Given the description of an element on the screen output the (x, y) to click on. 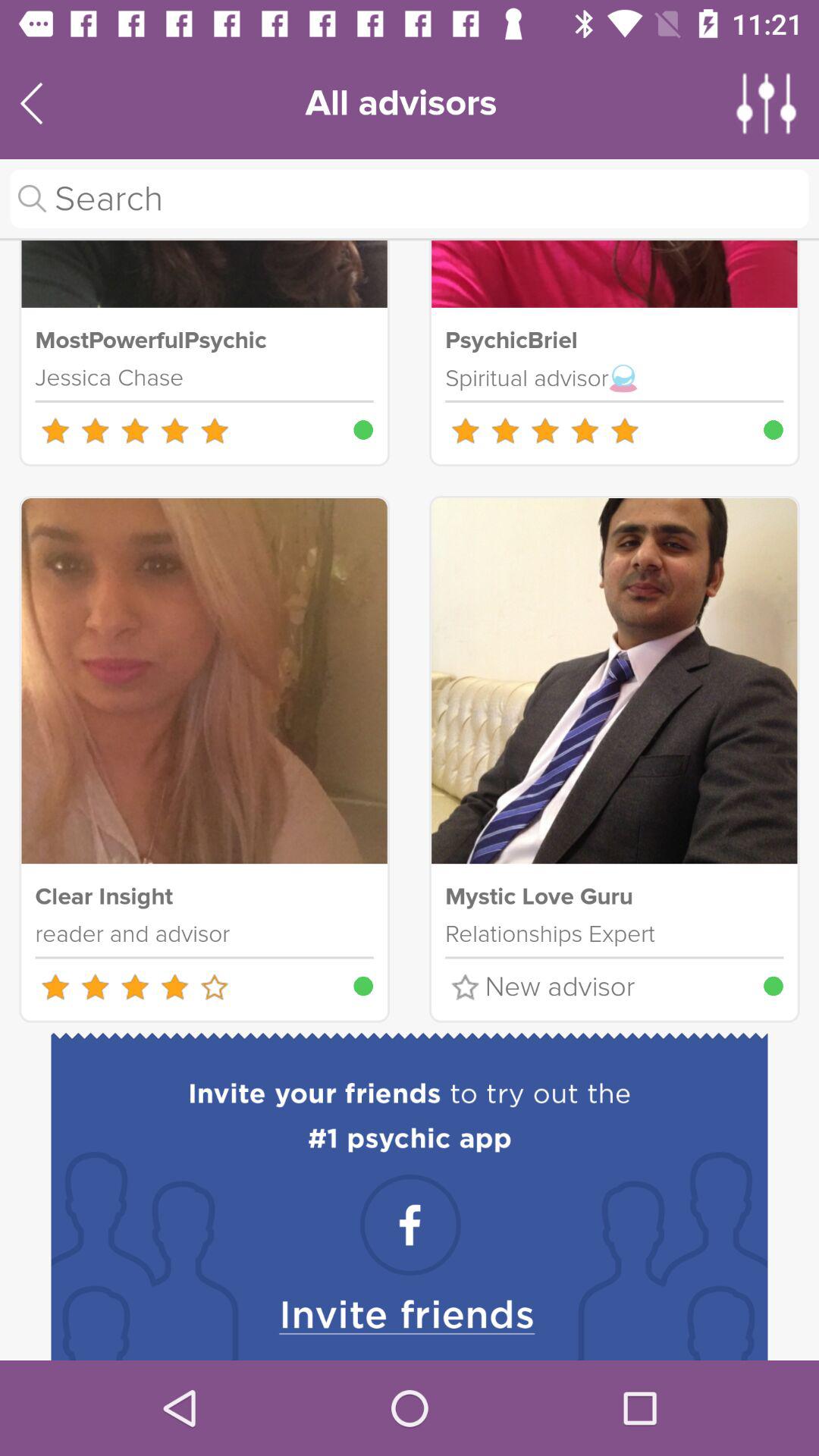
orange box flashing for entering information on search bar (409, 198)
